Given the description of an element on the screen output the (x, y) to click on. 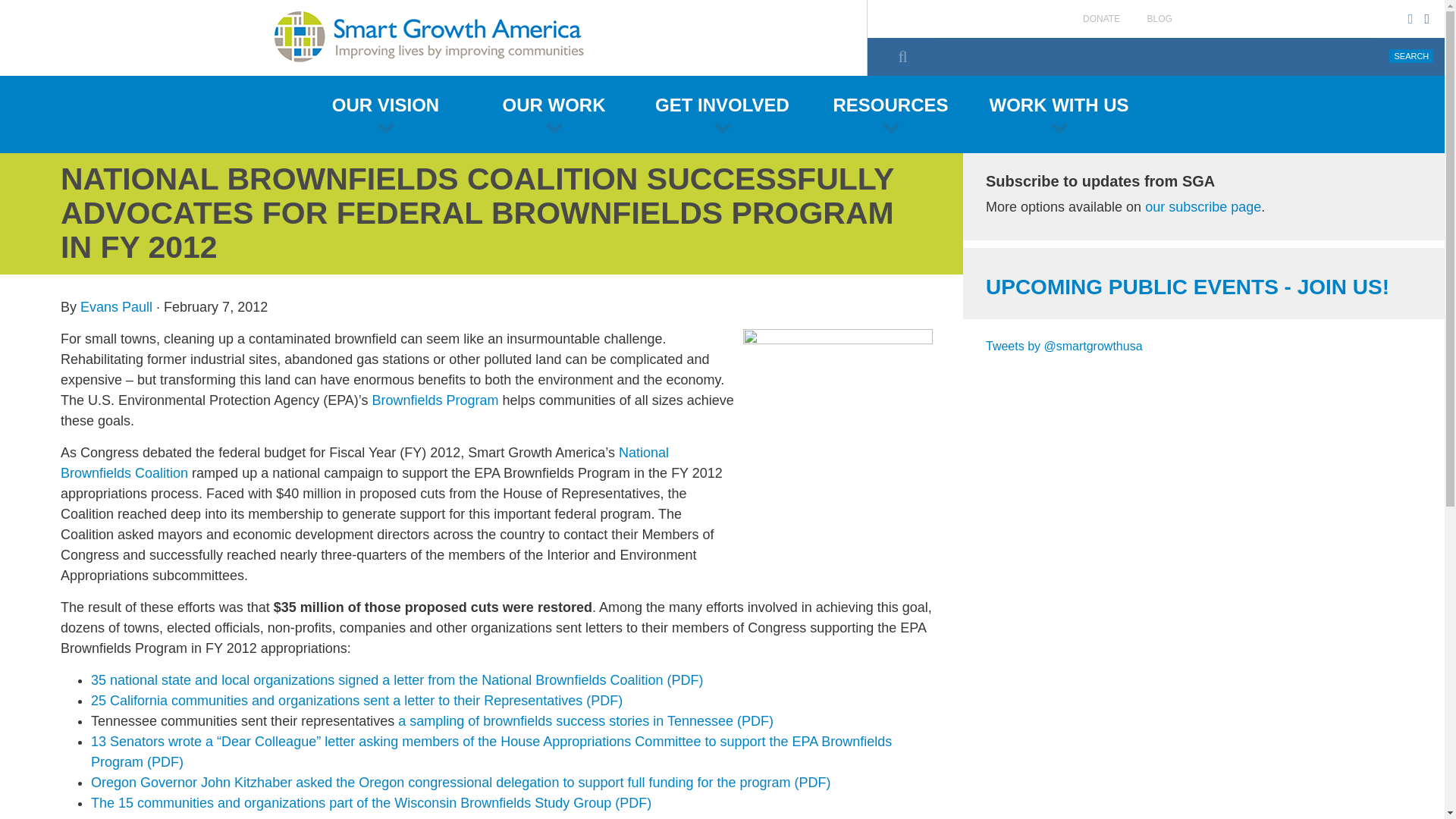
Evans Paull (116, 306)
SEARCH (1410, 56)
BLOG (1159, 18)
Brownfields Program (435, 400)
WORK WITH US (1058, 114)
GET INVOLVED (722, 114)
OUR VISION (385, 114)
Smart Growth America (433, 37)
OUR WORK (554, 114)
National Brownfields Coalition (364, 462)
